Given the description of an element on the screen output the (x, y) to click on. 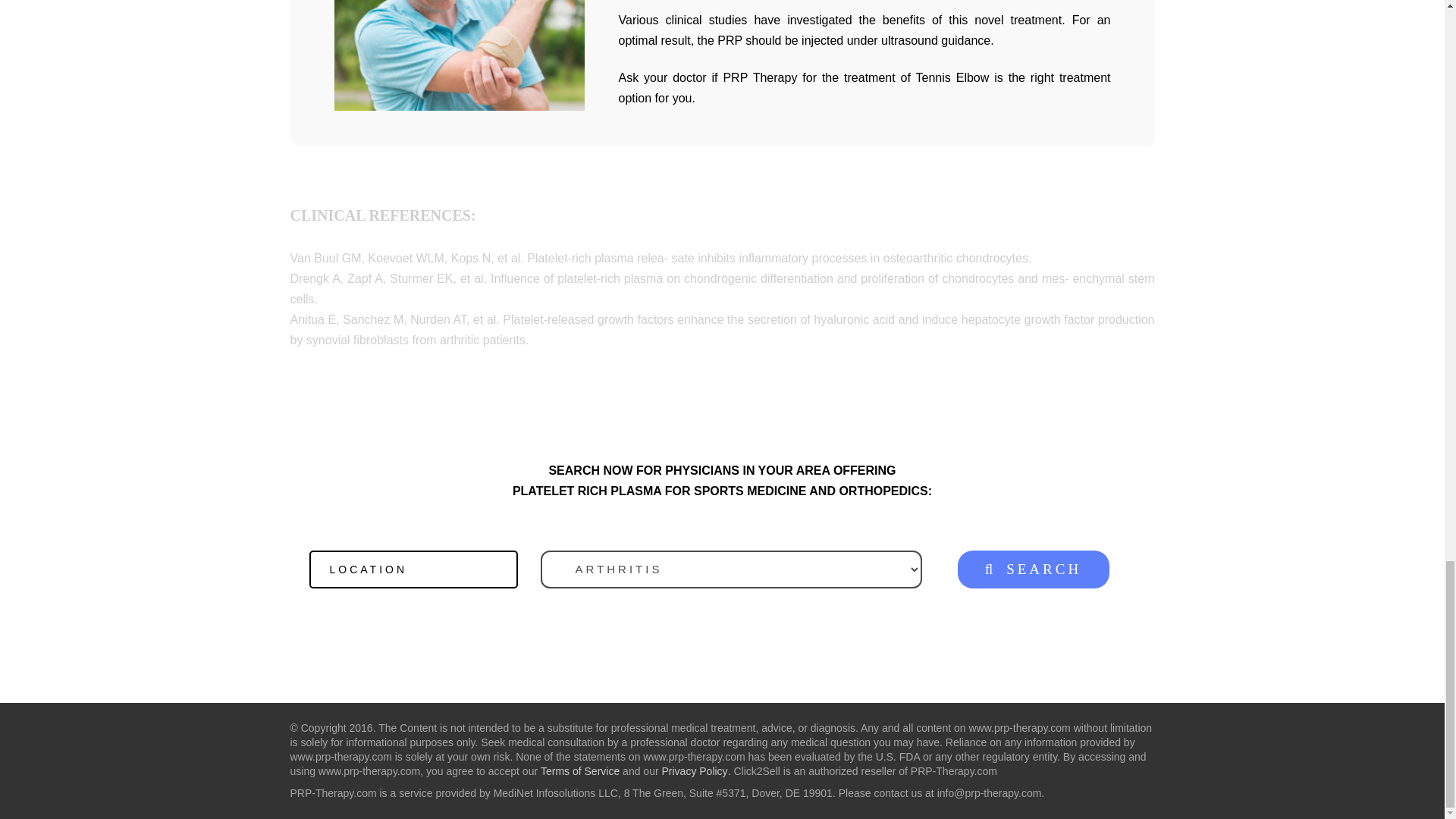
SEARCH (1032, 569)
Privacy Policy (693, 770)
Terms of Service (580, 770)
